Given the description of an element on the screen output the (x, y) to click on. 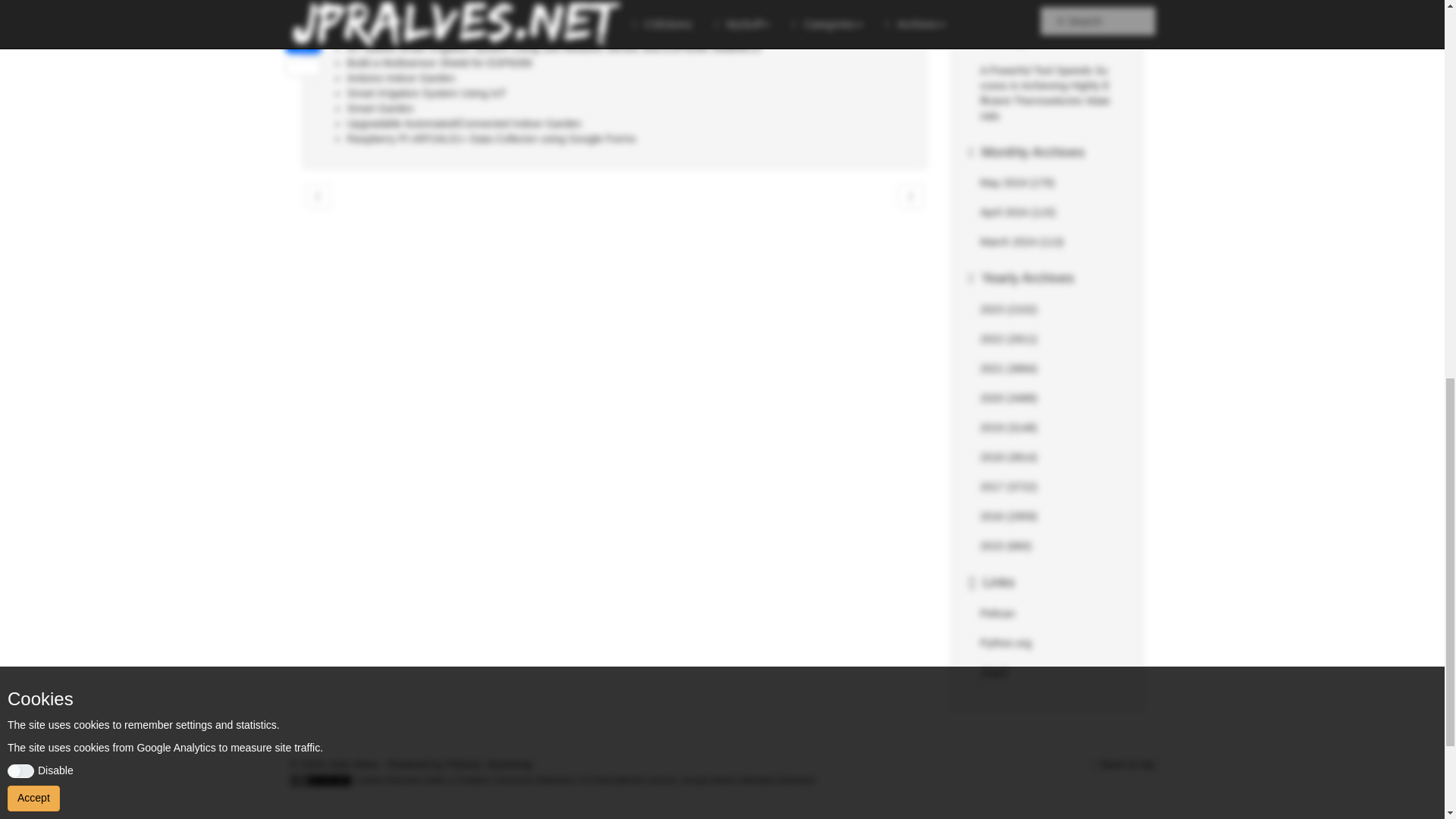
Link for Jinja2 (993, 672)
Link for Pelican (996, 613)
Link for Python.org (1004, 643)
